Given the description of an element on the screen output the (x, y) to click on. 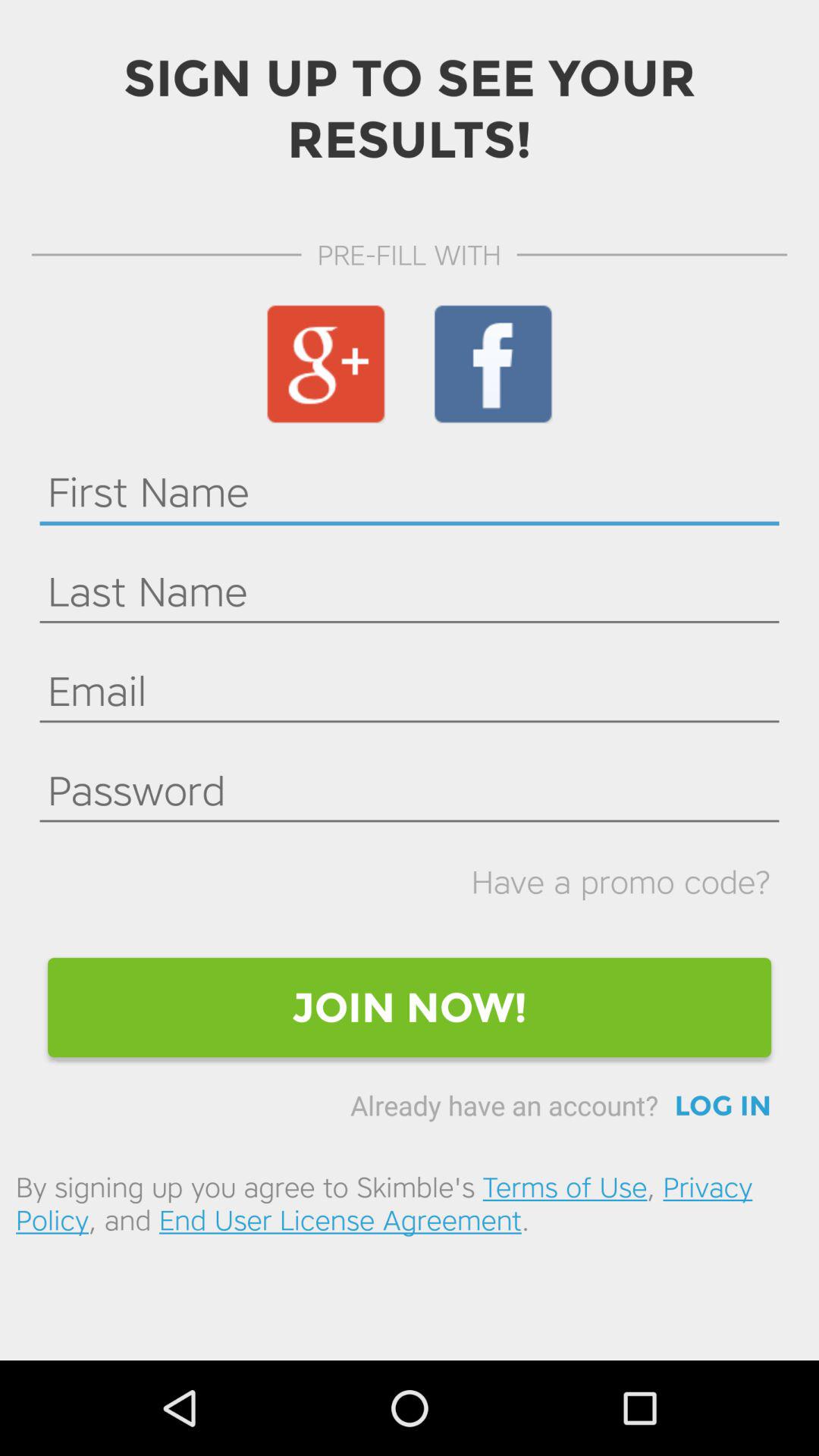
select icon above join now! icon (621, 881)
